Given the description of an element on the screen output the (x, y) to click on. 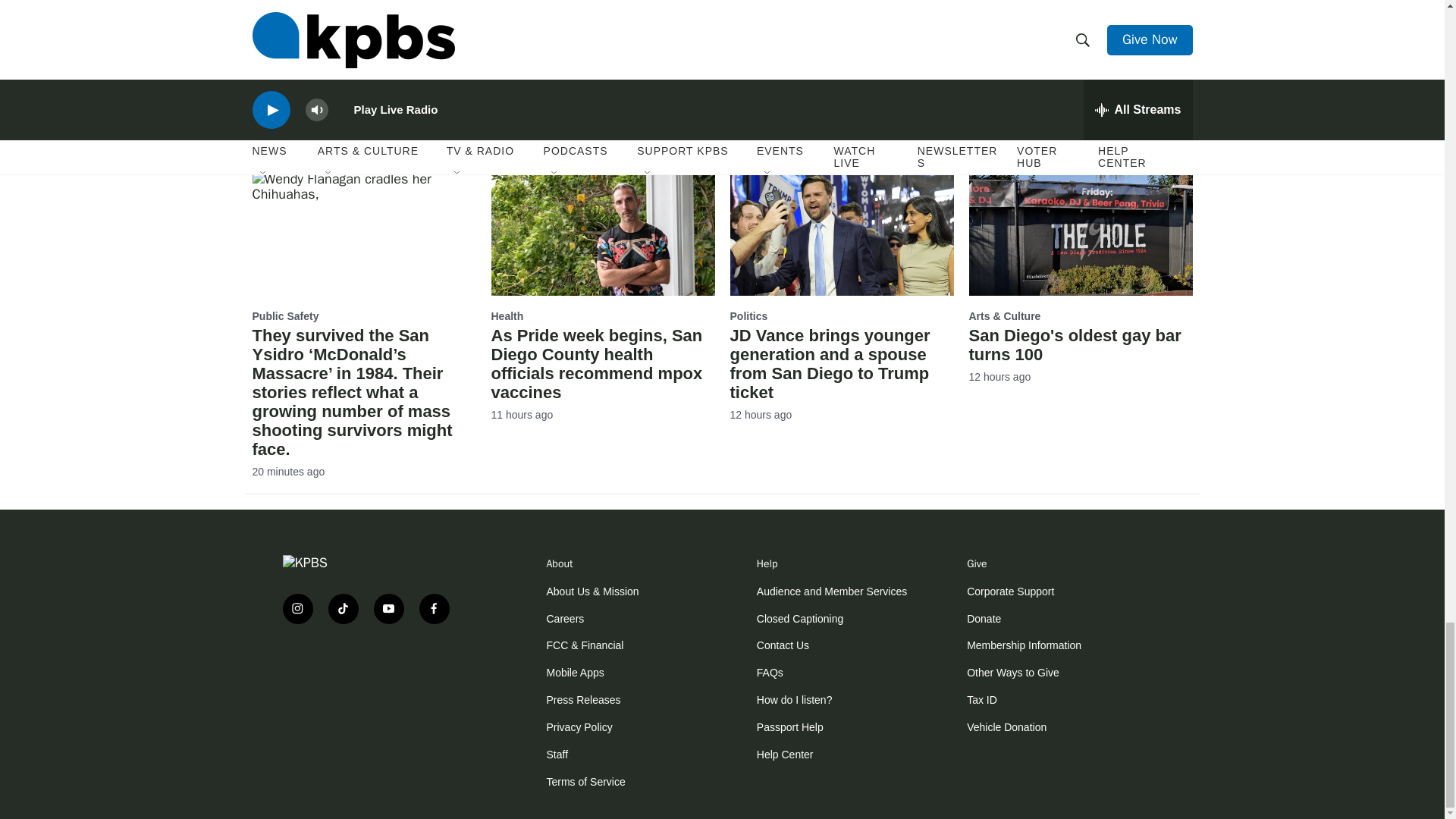
3rd party ad content (373, 684)
